Given the description of an element on the screen output the (x, y) to click on. 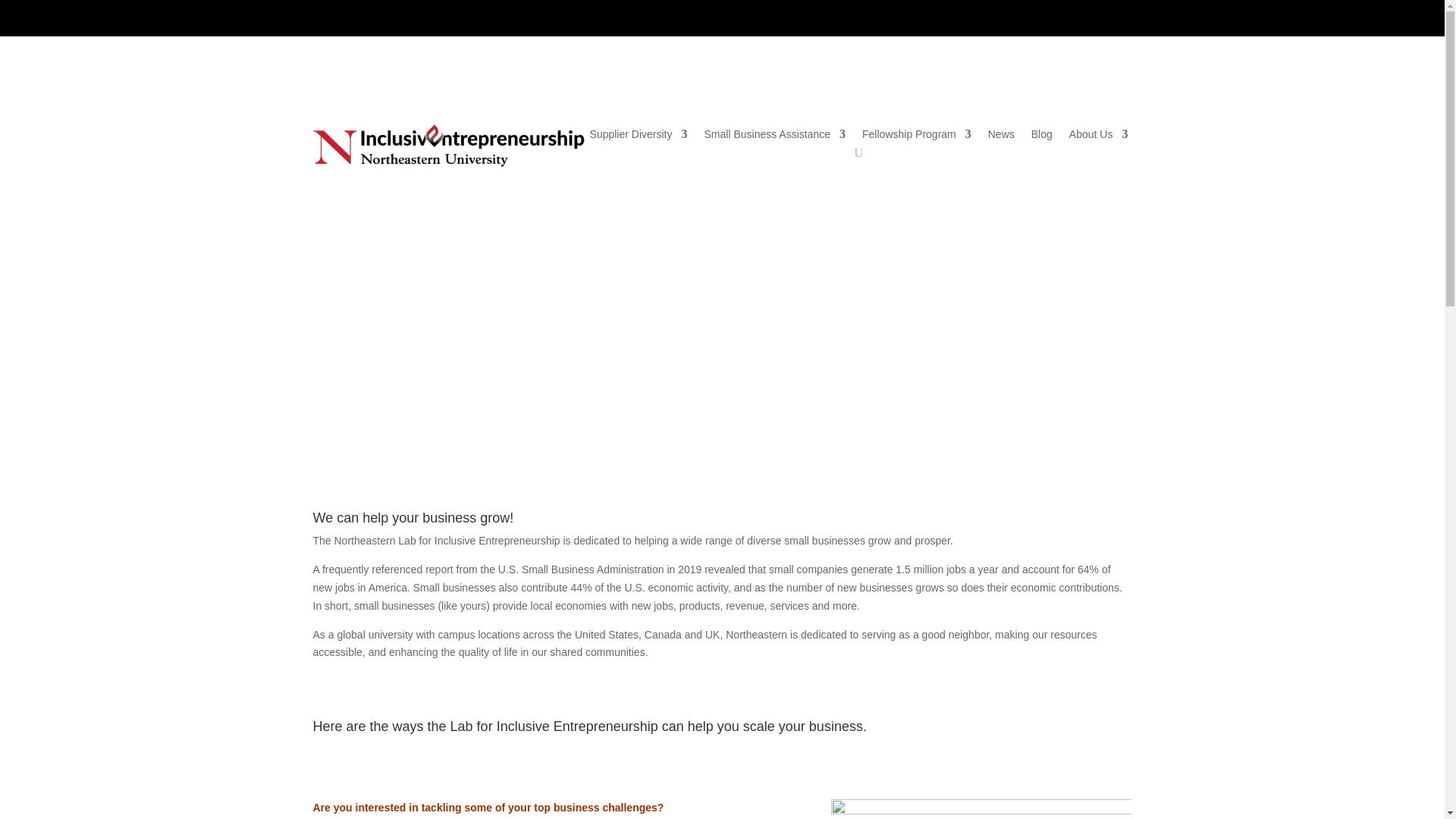
Fellowship Program (916, 136)
About Us (1098, 136)
7 (722, 390)
38 (981, 809)
Small Business Assistance (774, 136)
Supplier Diversity (638, 136)
News (1001, 136)
7 (722, 390)
7 (722, 390)
Blog (1041, 136)
